Given the description of an element on the screen output the (x, y) to click on. 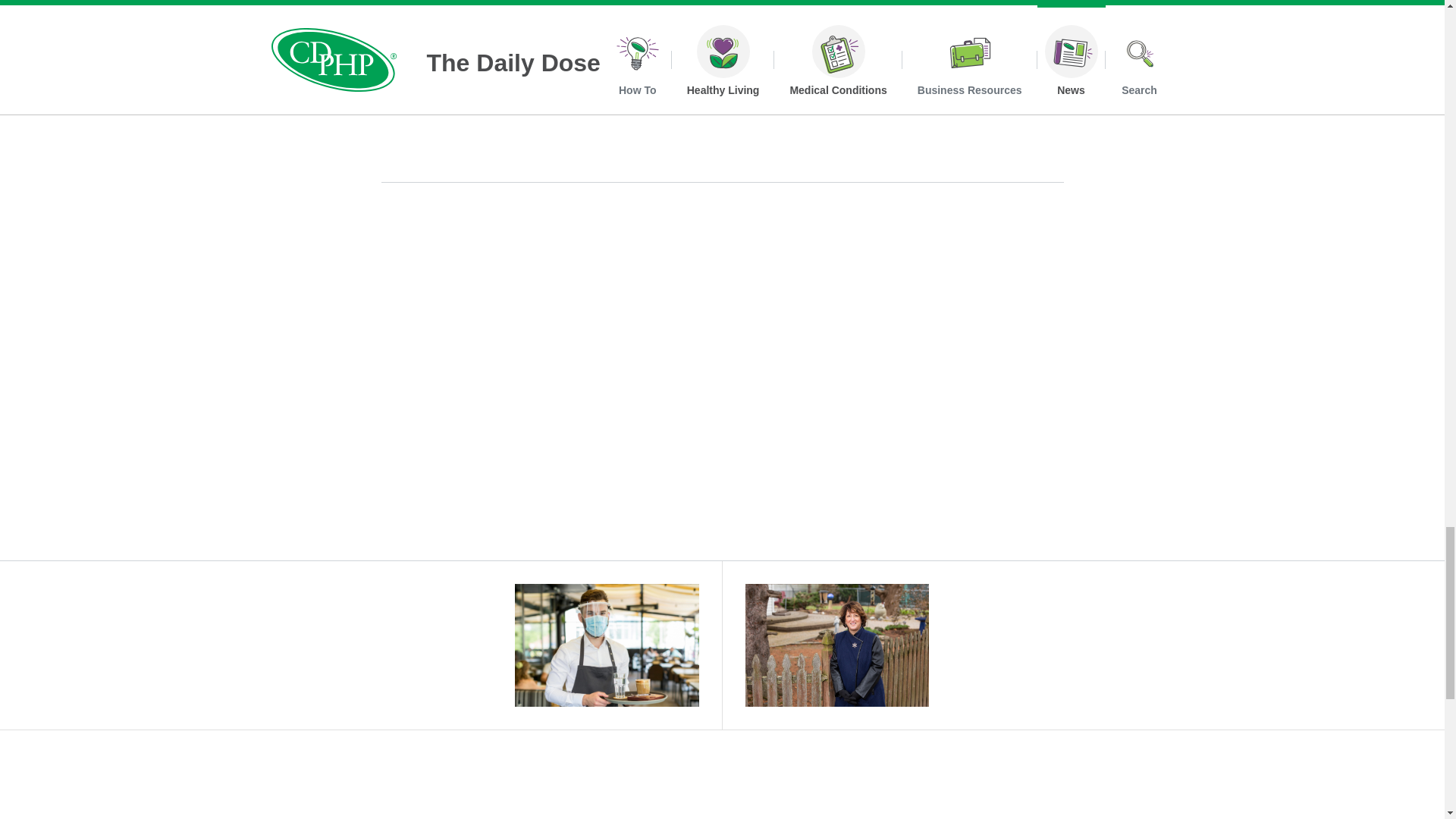
Subscribe! (1091, 812)
